Given the description of an element on the screen output the (x, y) to click on. 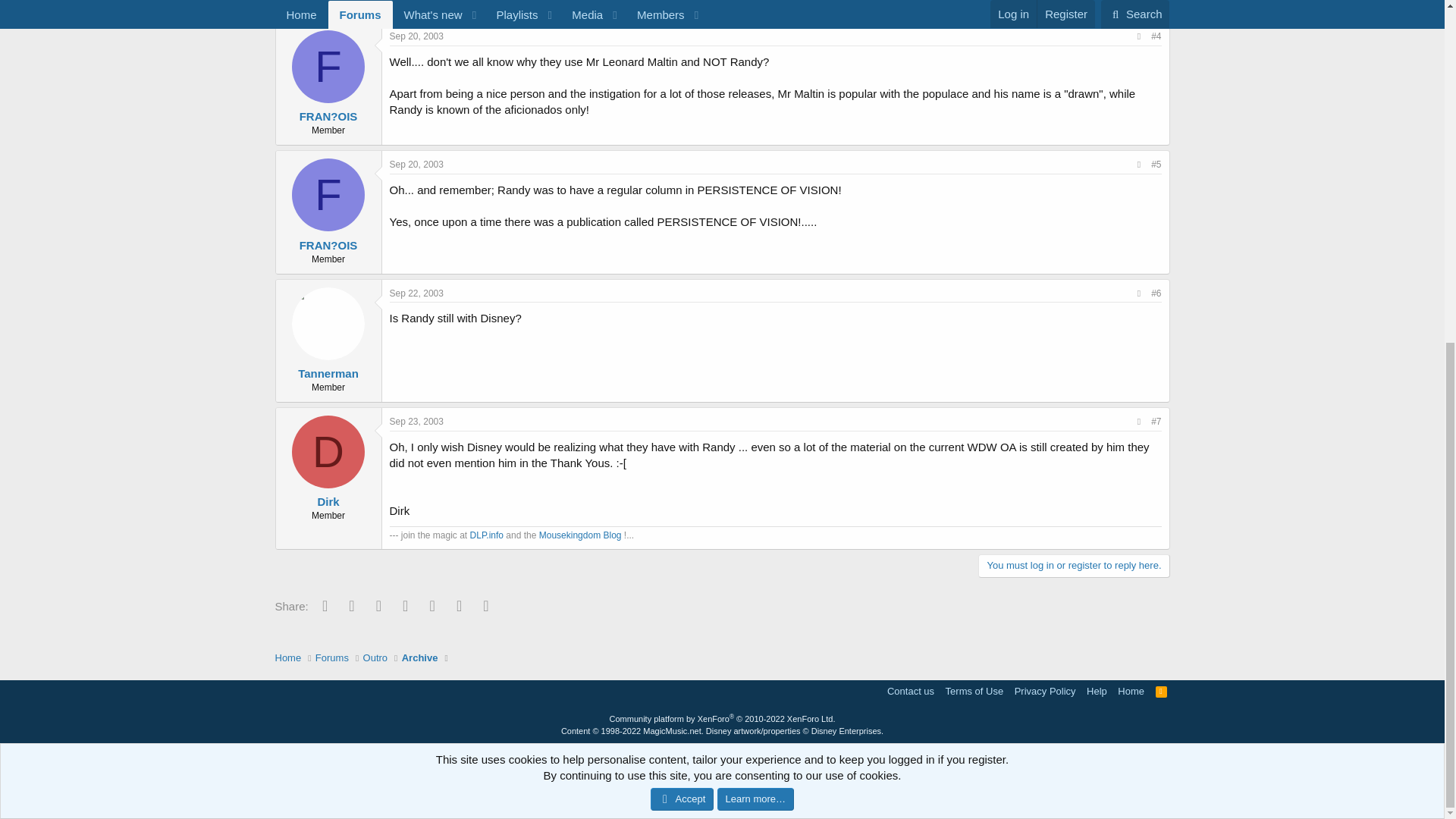
RSS (1161, 690)
Sep 23, 2003 at 5:19 AM (417, 421)
Sep 20, 2003 at 5:04 PM (417, 163)
Sep 22, 2003 at 7:14 PM (417, 292)
Sep 20, 2003 at 4:56 PM (417, 36)
